Given the description of an element on the screen output the (x, y) to click on. 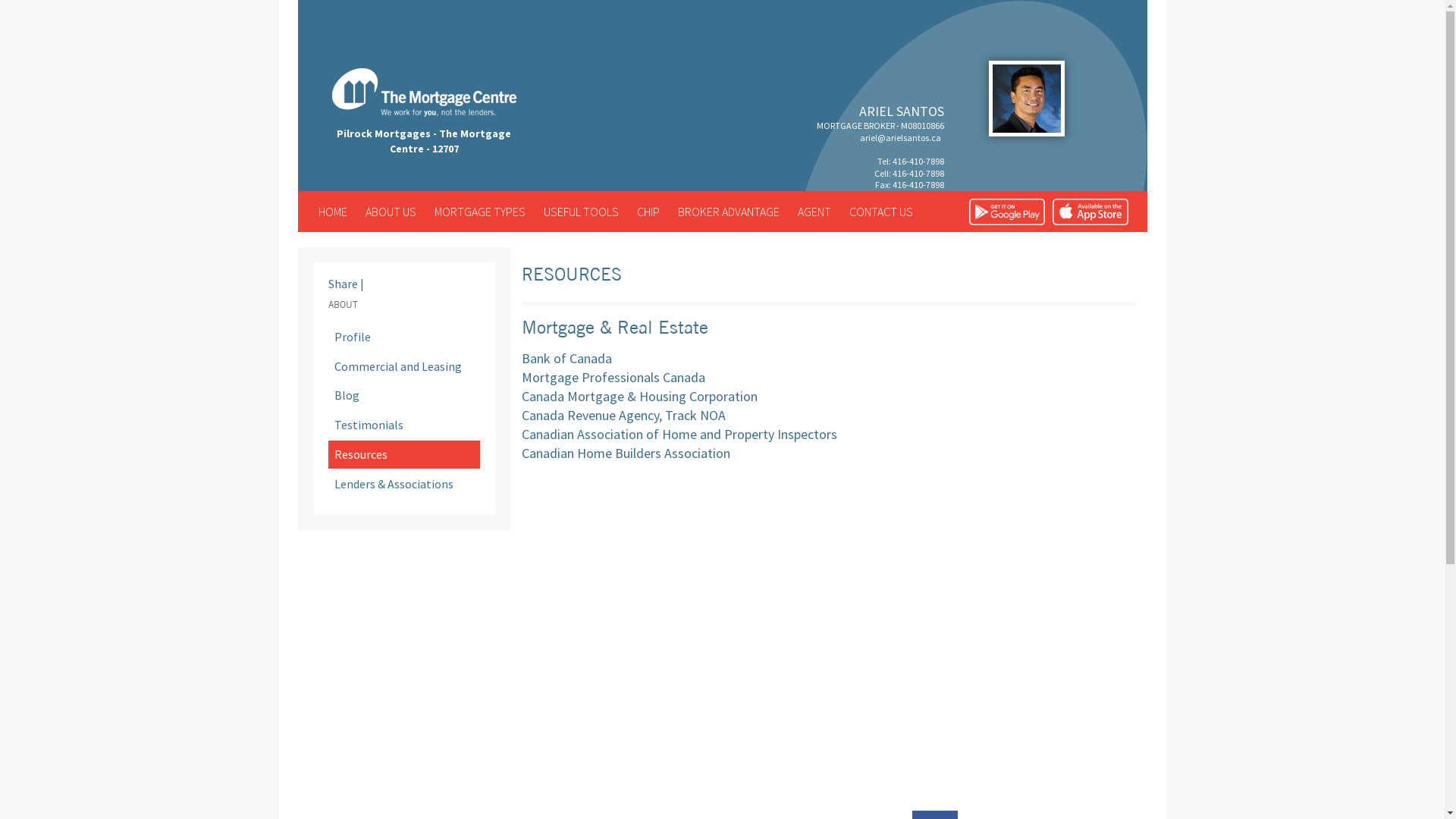
BROKER ADVANTAGE Element type: text (728, 211)
HOME Element type: text (332, 211)
Bank of Canada Element type: text (566, 358)
MORTGAGE TYPES Element type: text (478, 211)
CHIP Element type: text (647, 211)
Testimonials Element type: text (403, 425)
Ariel Santos Element type: hover (1026, 98)
Commercial and Leasing Element type: text (403, 366)
ABOUT US Element type: text (390, 211)
Profile Element type: text (403, 337)
Canada Mortgage & Housing Corporation Element type: text (639, 395)
ariel@arielsantos.ca Element type: text (900, 137)
Lenders & Associations Element type: text (403, 484)
CONTACT US Element type: text (881, 211)
Mortgage Professionals Canada Element type: text (613, 376)
Canada Revenue Agency, Track NOA Element type: text (623, 414)
Canadian Association of Home and Property Inspectors Element type: text (679, 433)
Resources Element type: text (403, 454)
Share Element type: text (342, 283)
USEFUL TOOLS Element type: text (580, 211)
Blog Element type: text (403, 395)
AGENT Element type: text (814, 211)
Canadian Home Builders Association Element type: text (625, 452)
